Given the description of an element on the screen output the (x, y) to click on. 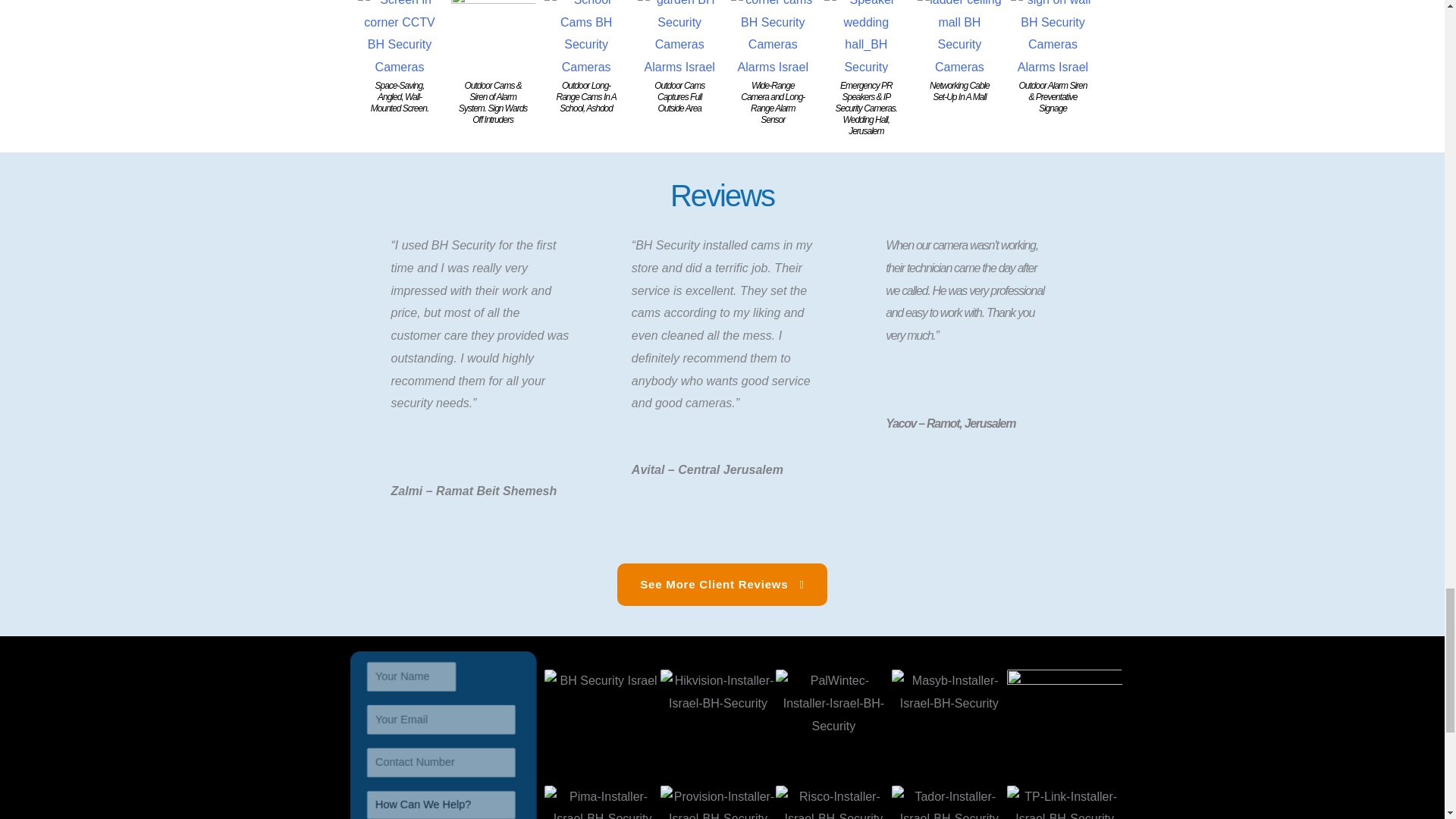
See More Client Reviews (722, 584)
